Given the description of an element on the screen output the (x, y) to click on. 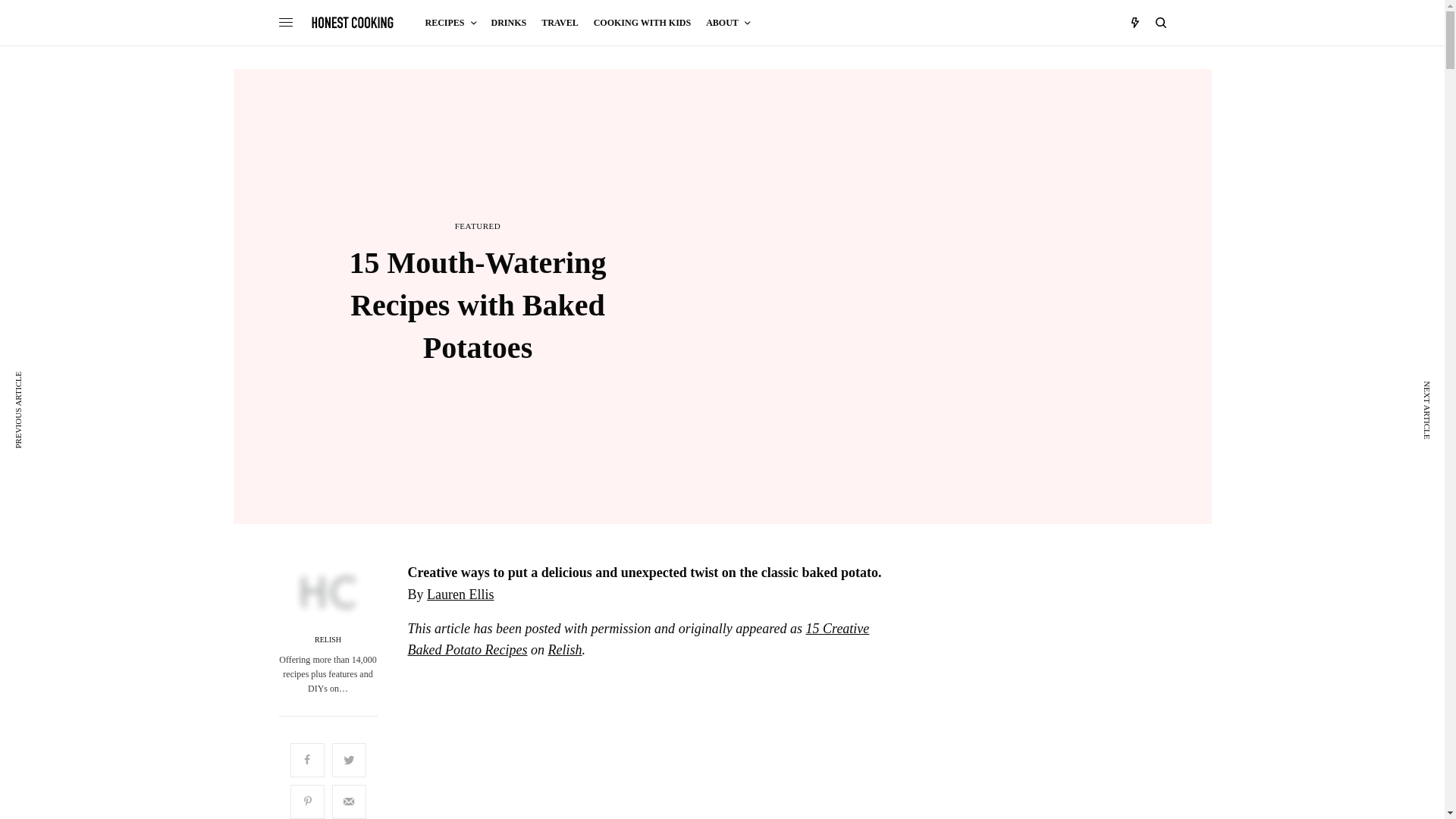
Relish (565, 649)
RECIPES (450, 22)
Honest Cooking (352, 22)
Lauren Ellis (460, 594)
ABOUT (727, 22)
COOKING WITH KIDS (642, 22)
15 Creative Baked Potato Recipes (638, 639)
FEATURED (477, 225)
RELISH (328, 639)
